Given the description of an element on the screen output the (x, y) to click on. 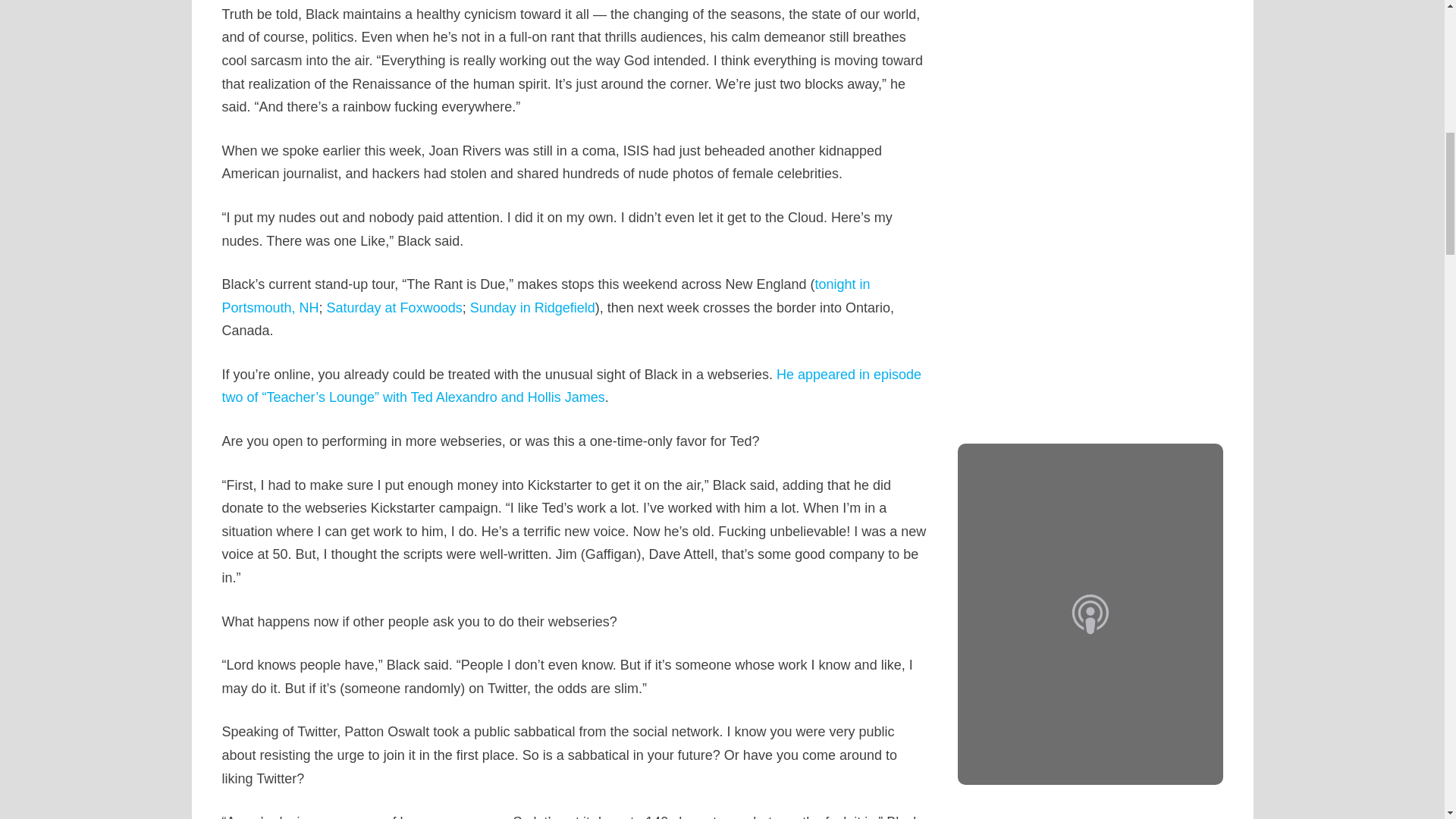
tonight in Portsmouth, NH (545, 295)
Saturday at Foxwoods (394, 307)
Sunday in Ridgefield (532, 307)
